Given the description of an element on the screen output the (x, y) to click on. 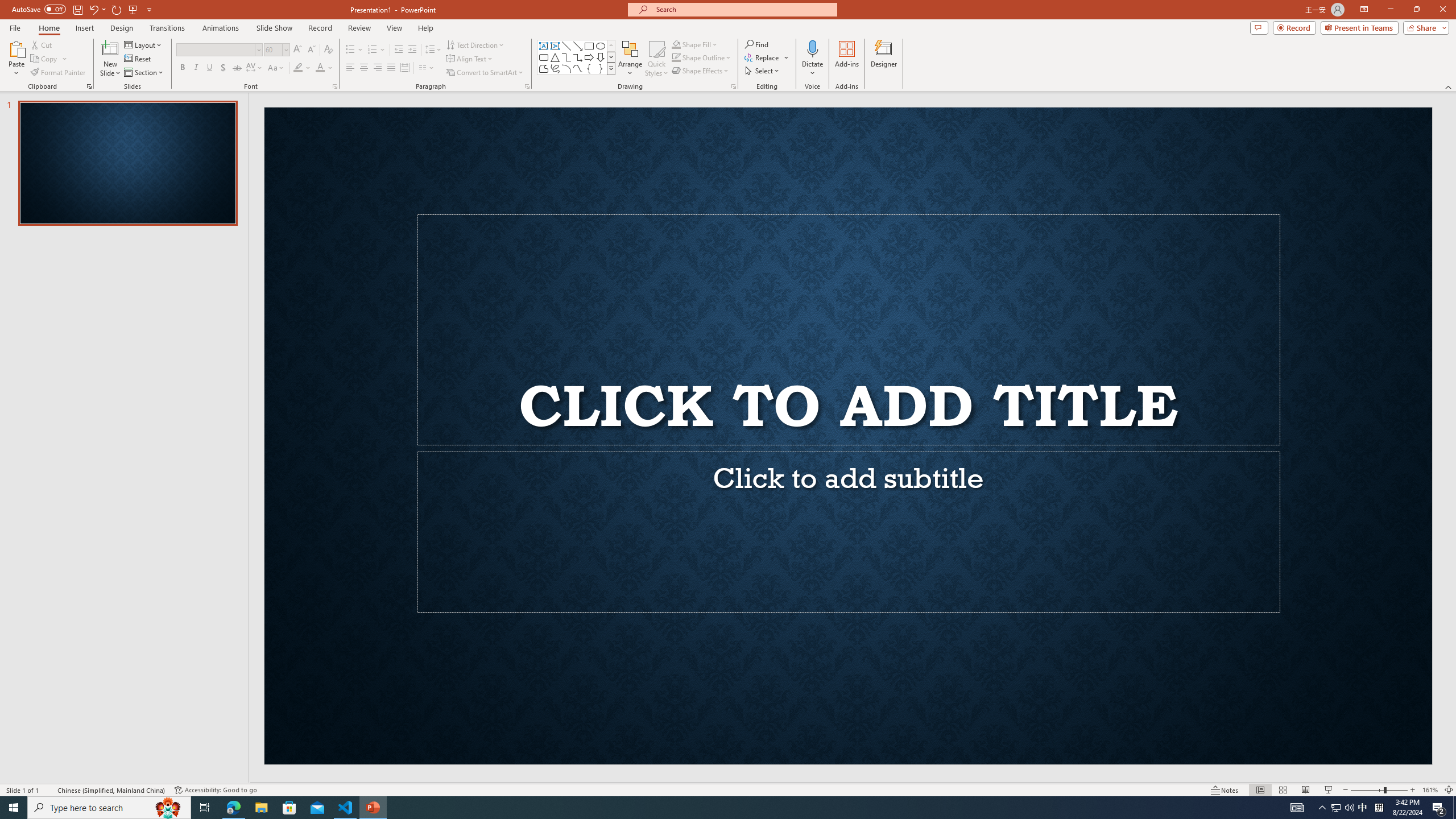
Accessibility Checker Accessibility: Good to go (216, 790)
Spell Check  (49, 790)
